Given the description of an element on the screen output the (x, y) to click on. 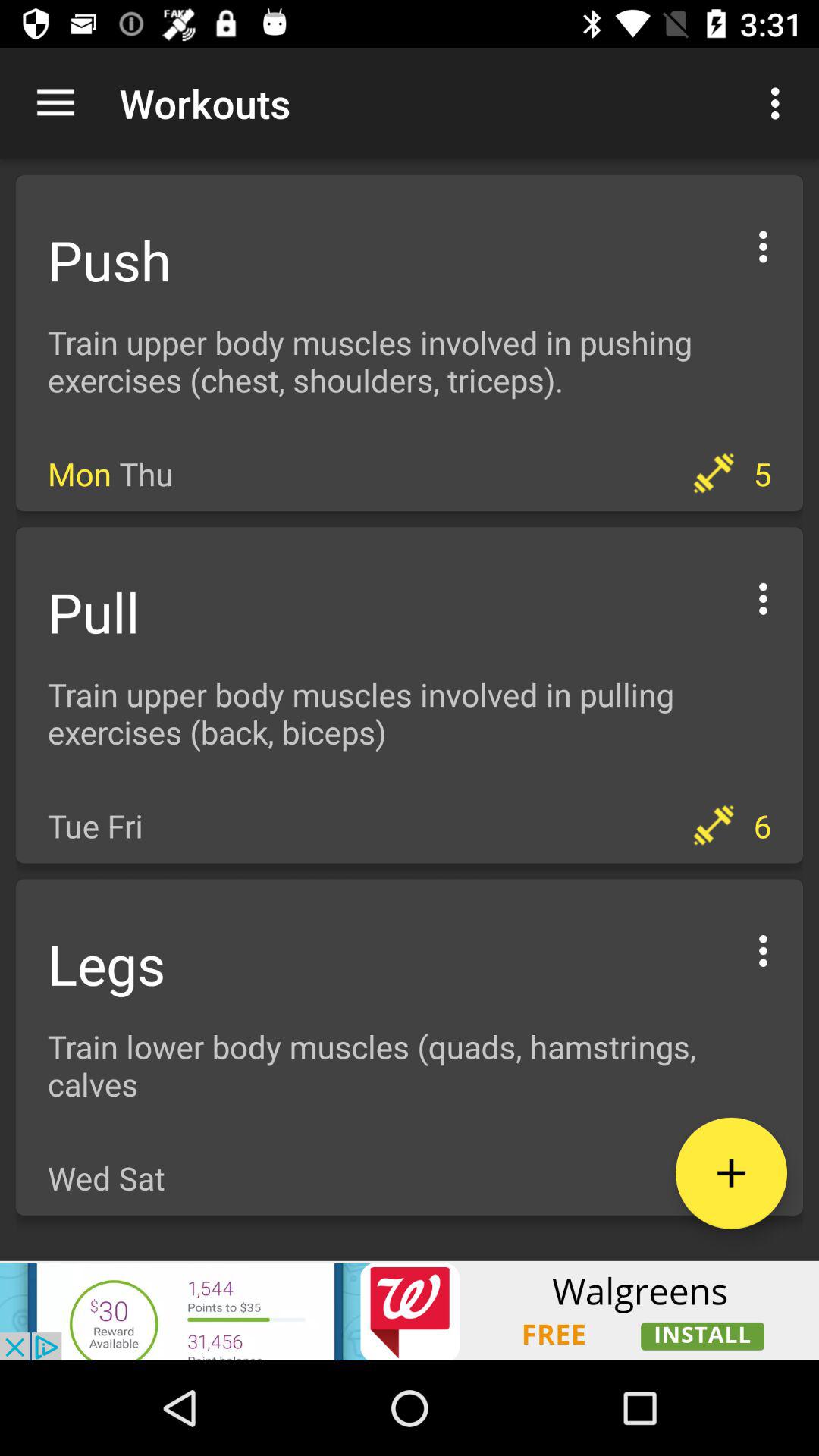
view advertisement (409, 1310)
